Given the description of an element on the screen output the (x, y) to click on. 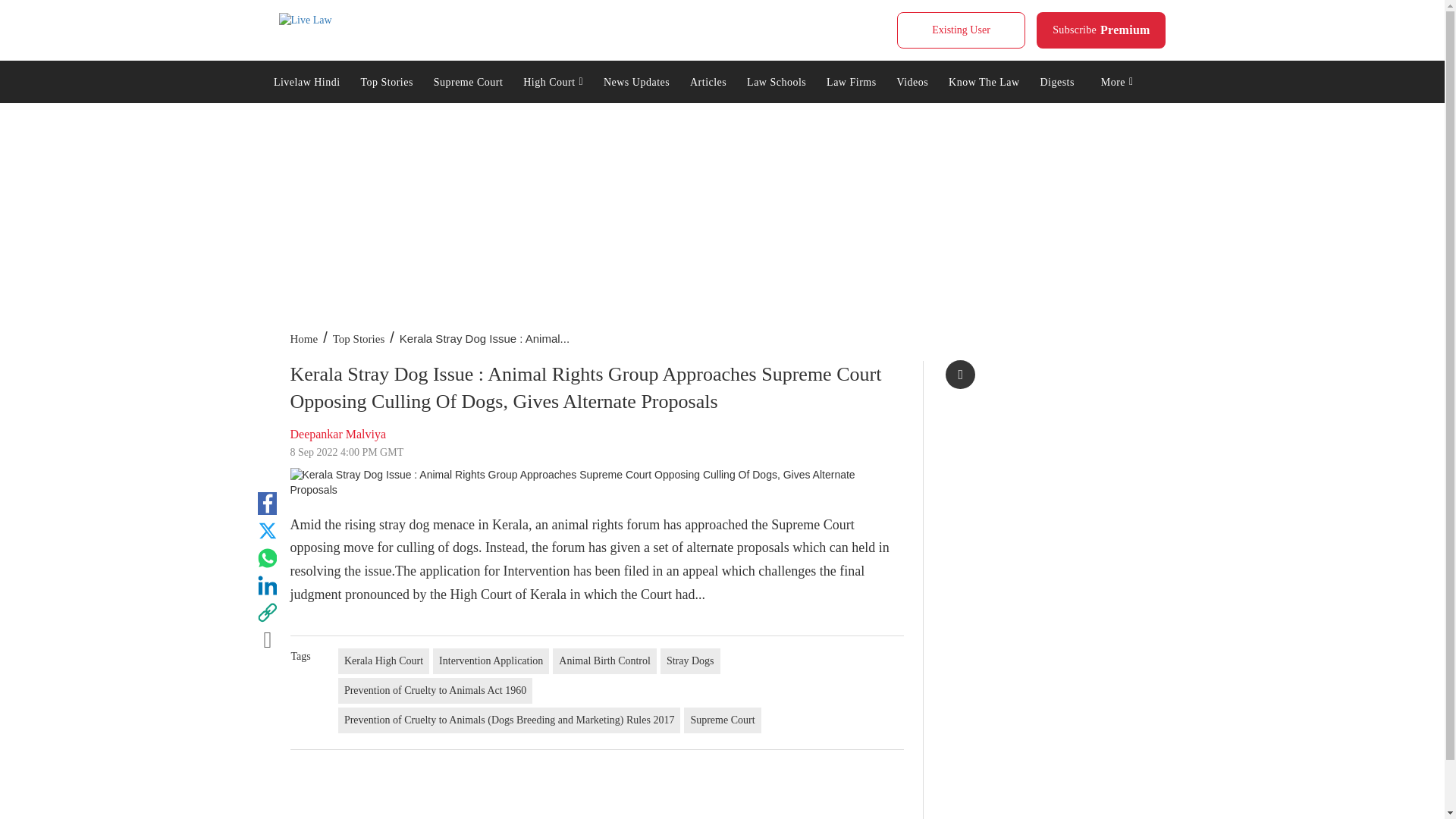
Supreme Court (467, 80)
Livelaw Hindi (1101, 30)
High Court (306, 80)
Top Stories (553, 80)
Live Law (386, 80)
Existing User (305, 20)
